Given the description of an element on the screen output the (x, y) to click on. 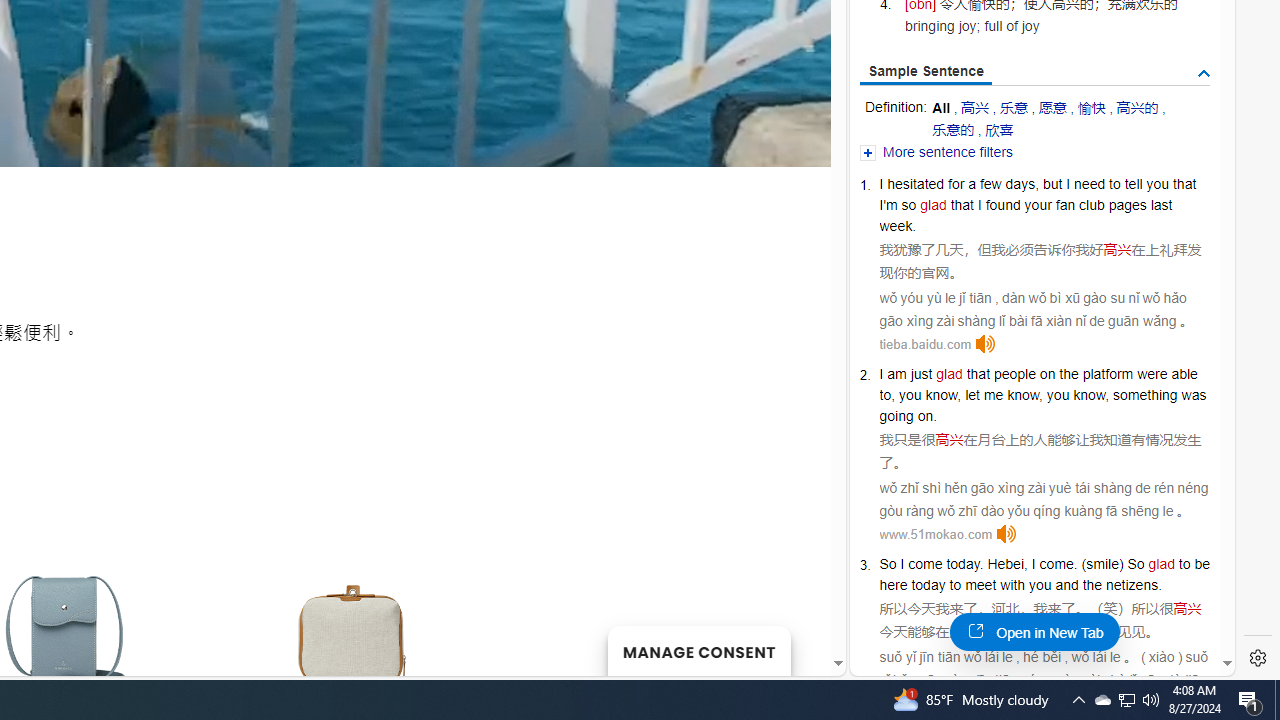
www.51mokao.com (936, 534)
come (1056, 563)
people (1014, 373)
me (993, 395)
last (1160, 205)
here (893, 584)
platform (1107, 373)
Click to listen (1007, 534)
know (1088, 395)
on (1047, 373)
